Given the description of an element on the screen output the (x, y) to click on. 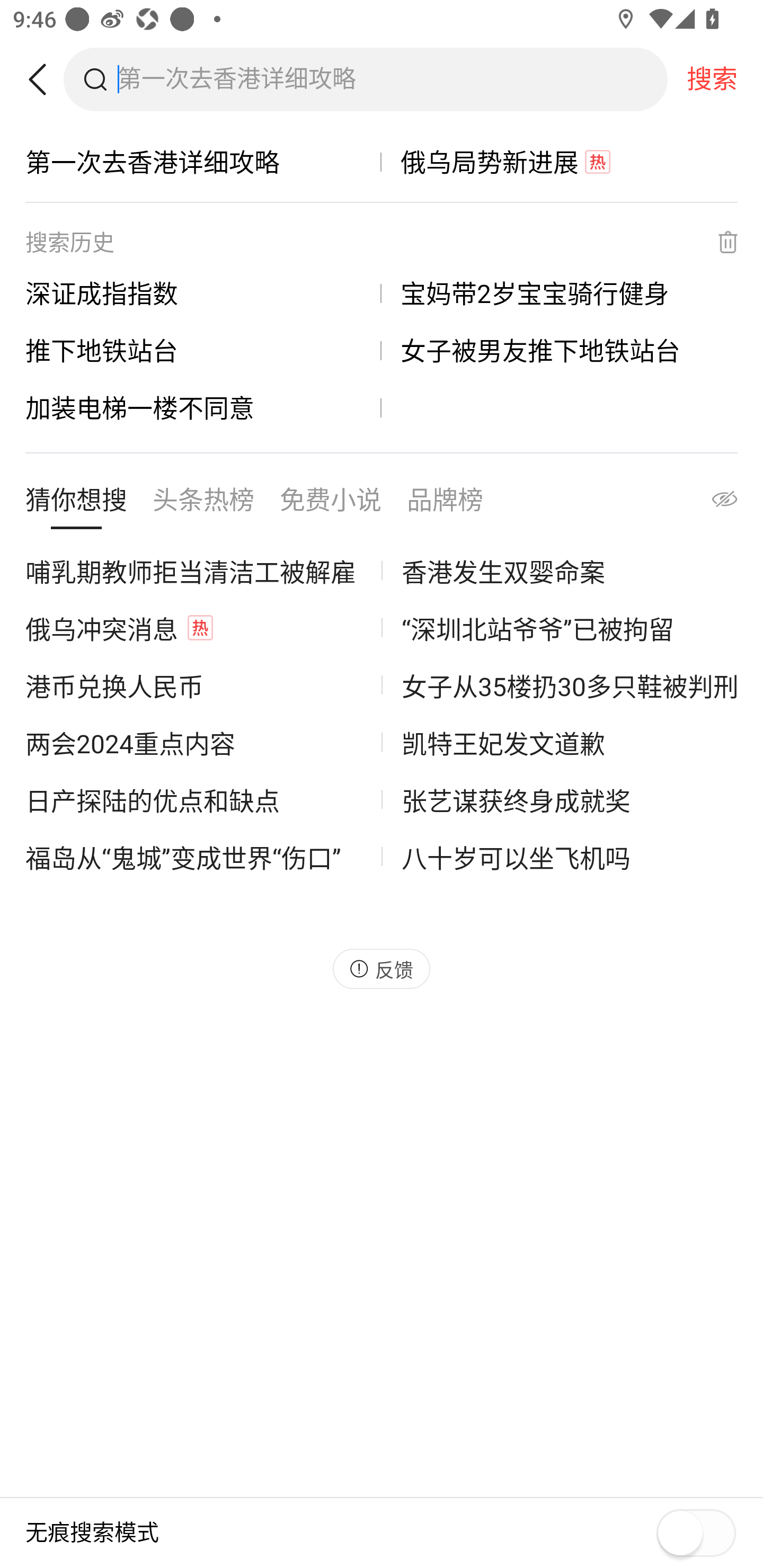
搜索框，第一次去香港详细攻略 (392, 79)
搜索 (711, 79)
返回 (44, 79)
第一次去香港详细攻略，链接, 第一次去香港详细攻略 (203, 162)
俄乌局势新进展，链接,热 俄乌局势新进展 (559, 162)
删除搜索历史 (716, 242)
深证成指指数，链接, 深证成指指数 (203, 292)
宝妈带2岁宝宝骑行健身，链接, 宝妈带2岁宝宝骑行健身 (559, 292)
推下地铁站台，链接, 推下地铁站台 (203, 350)
女子被男友推下地铁站台，链接, 女子被男友推下地铁站台 (559, 350)
加装电梯一楼不同意，链接, 加装电梯一楼不同意 (203, 407)
猜你想搜 按钮 已选中 (76, 503)
头条热榜 按钮 (203, 503)
免费小说 按钮 (330, 503)
品牌榜 按钮 (444, 503)
隐藏全部推荐词内容 按钮 (706, 503)
反馈, 按钮 (381, 968)
